Given the description of an element on the screen output the (x, y) to click on. 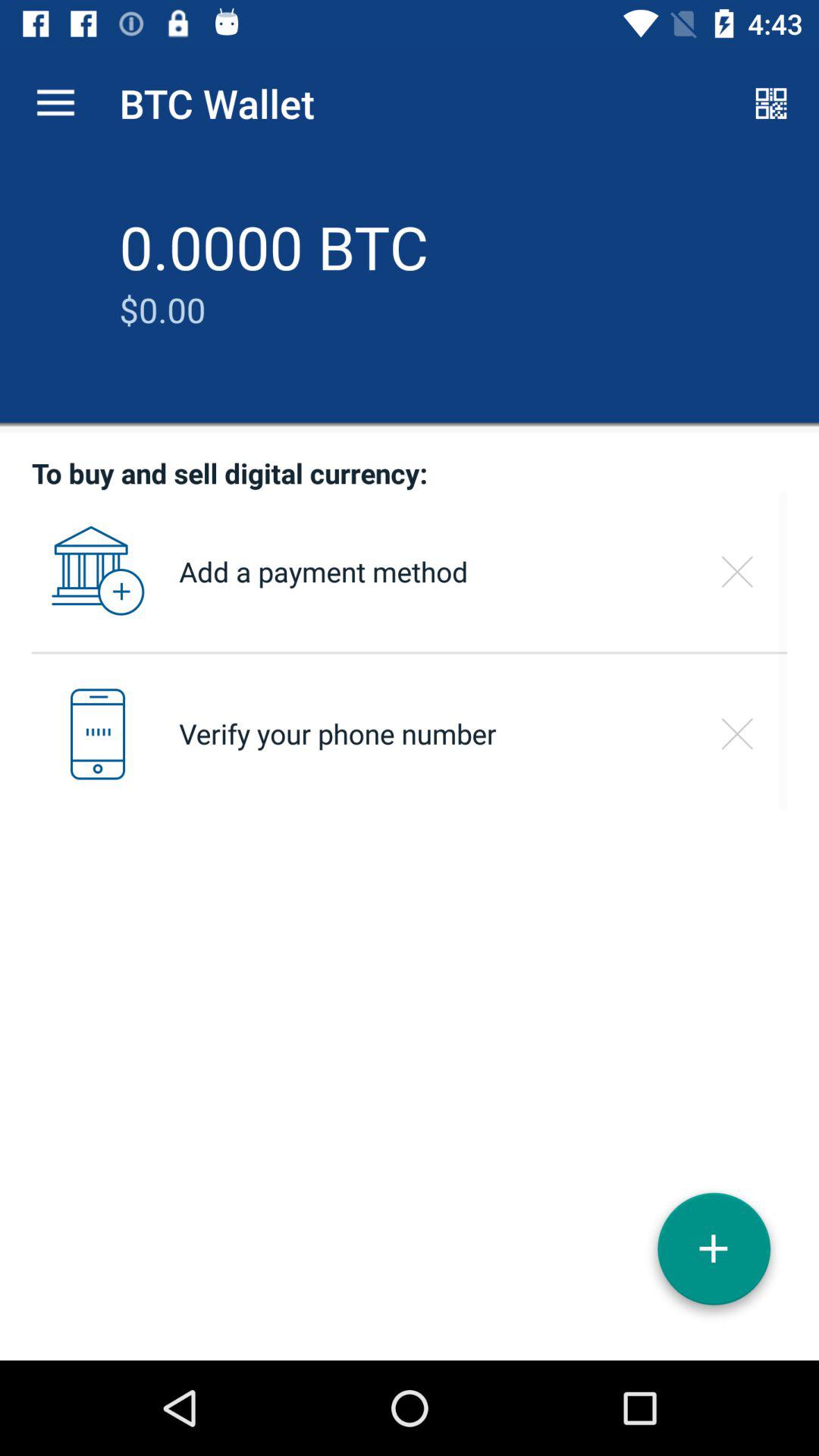
click on the add option (713, 1254)
